Given the description of an element on the screen output the (x, y) to click on. 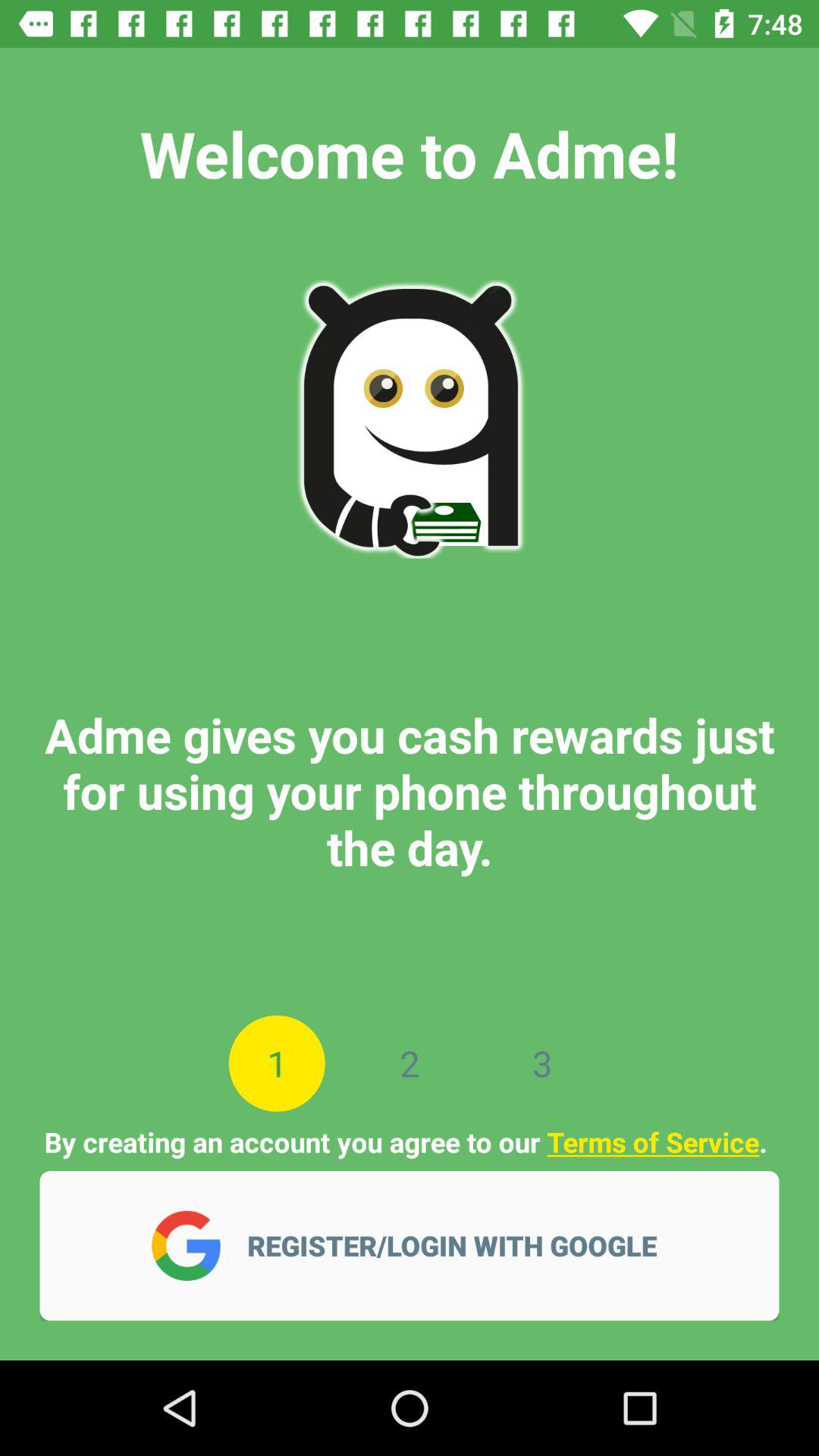
open icon next to 2 icon (542, 1063)
